Given the description of an element on the screen output the (x, y) to click on. 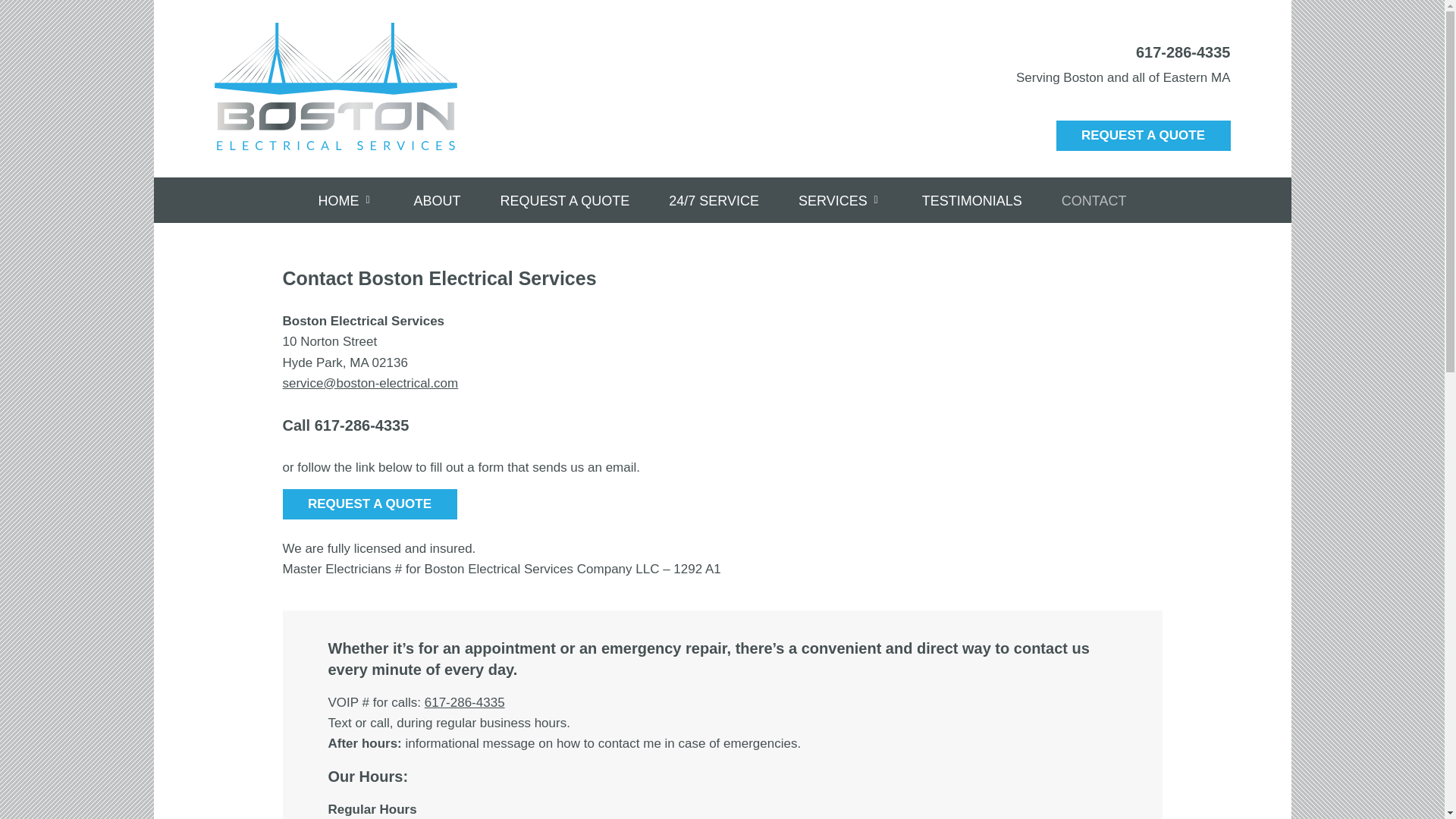
CONTACT (1094, 198)
REQUEST A QUOTE (1142, 135)
REQUEST A QUOTE (565, 198)
TESTIMONIALS (971, 198)
ABOUT (437, 198)
SERVICES (839, 198)
Call 617-286-4335 (345, 425)
REQUEST A QUOTE (369, 503)
HOME (346, 198)
617-286-4335 (1182, 52)
617-286-4335 (465, 702)
